Given the description of an element on the screen output the (x, y) to click on. 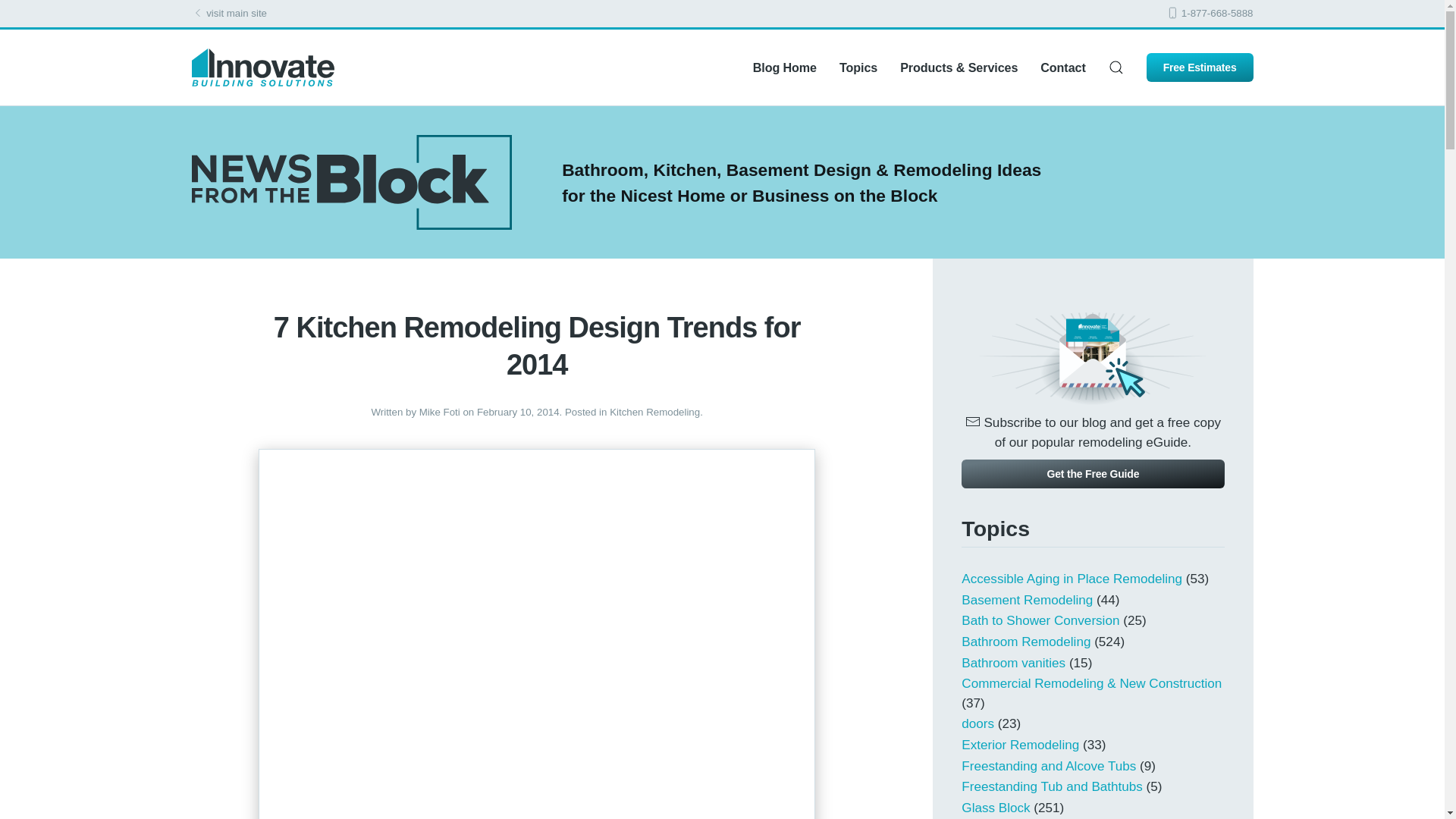
visit main site (228, 12)
News from the Block, Innovate Building Solutions Blog (350, 182)
1-877-668-5888 (1209, 12)
Blog Home (784, 67)
